Given the description of an element on the screen output the (x, y) to click on. 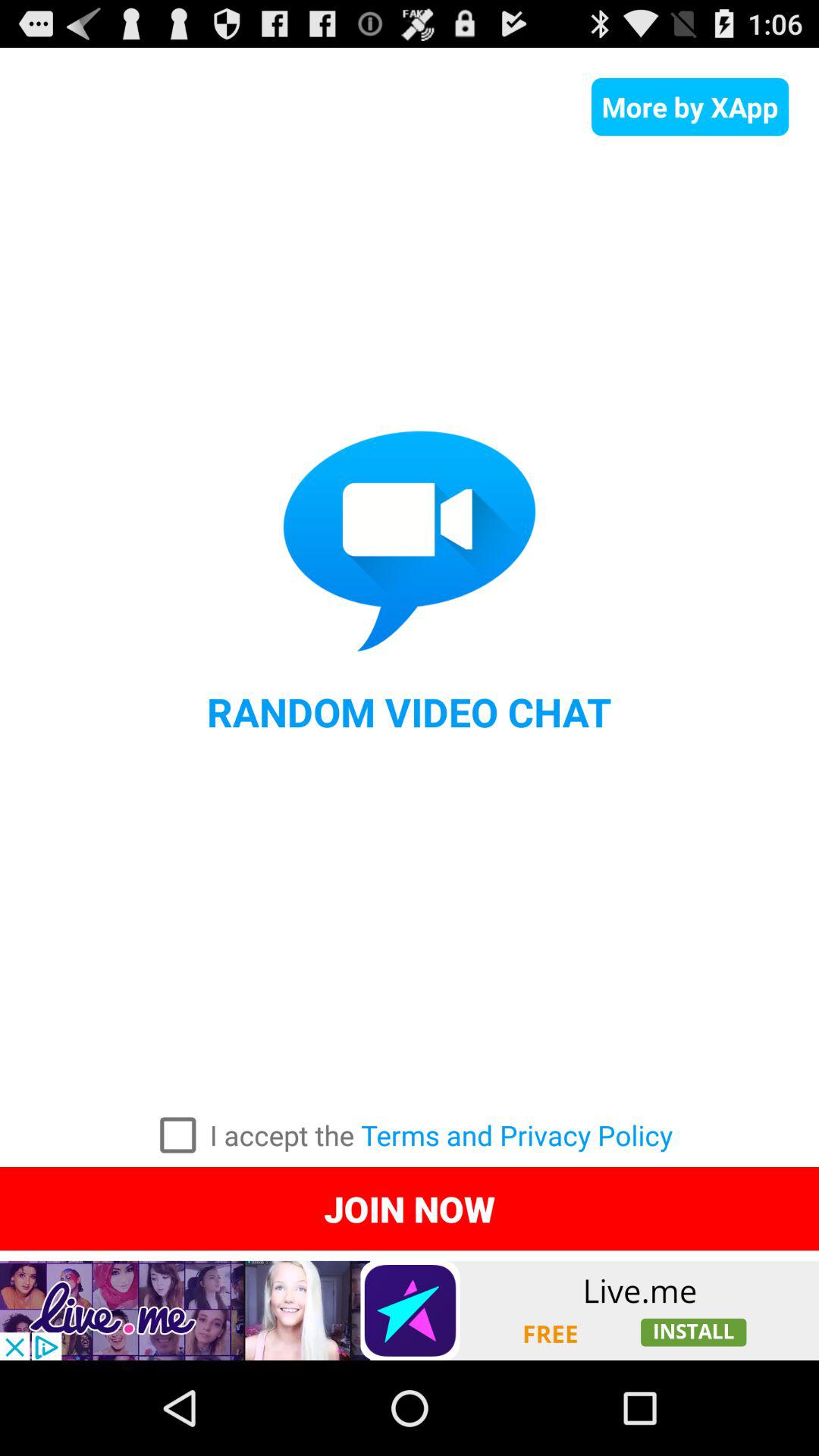
select to accept the terms and privacy policy (177, 1135)
